Given the description of an element on the screen output the (x, y) to click on. 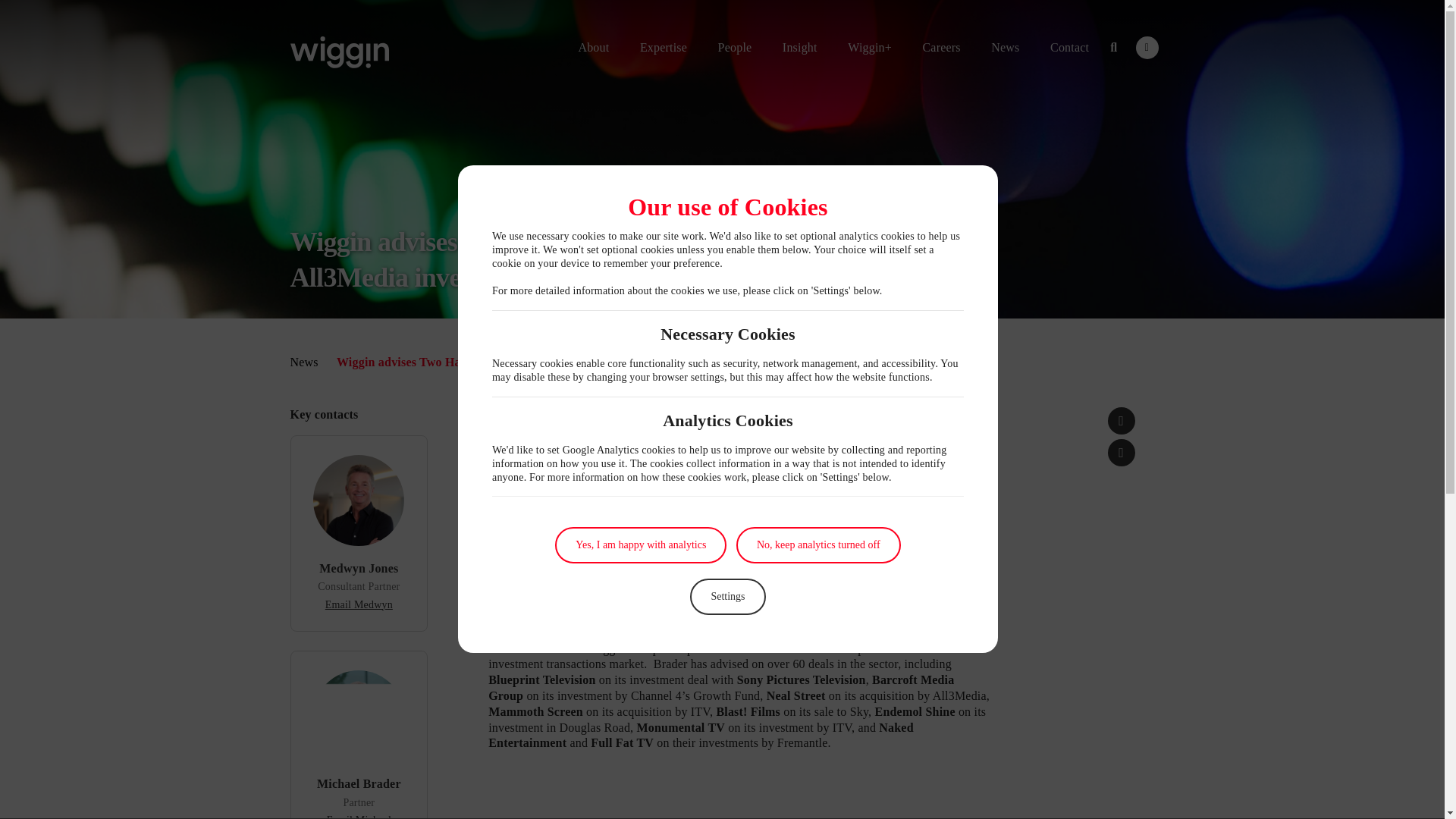
Careers (941, 47)
Email address for Michael (358, 816)
Profile for Medwyn (357, 567)
Search (1112, 47)
Wiggin Logo Header (338, 51)
People (734, 47)
Insight (799, 47)
Expertise (662, 47)
About (593, 47)
Email address for Medwyn (358, 604)
